Given the description of an element on the screen output the (x, y) to click on. 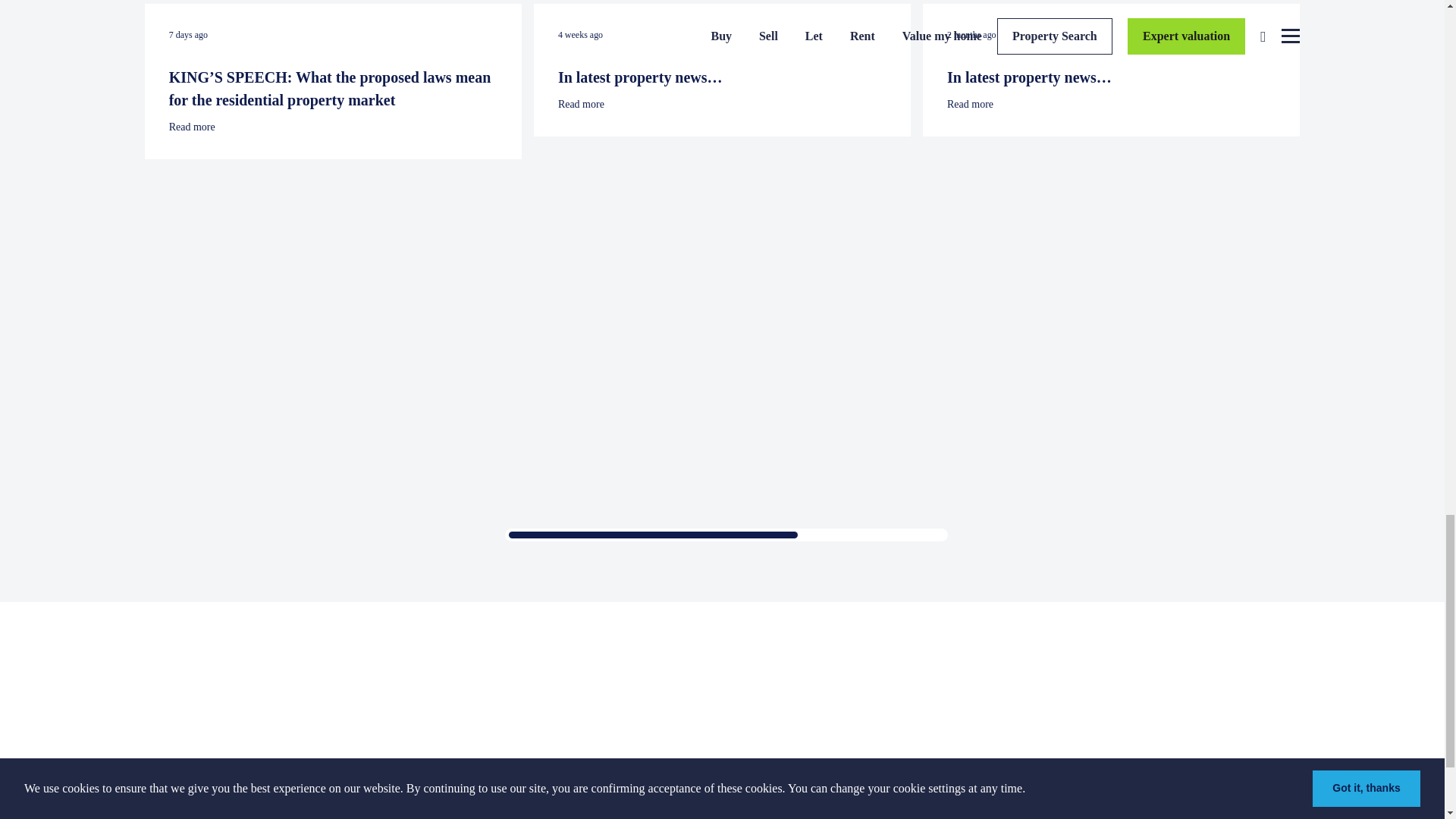
Read more (332, 126)
